Given the description of an element on the screen output the (x, y) to click on. 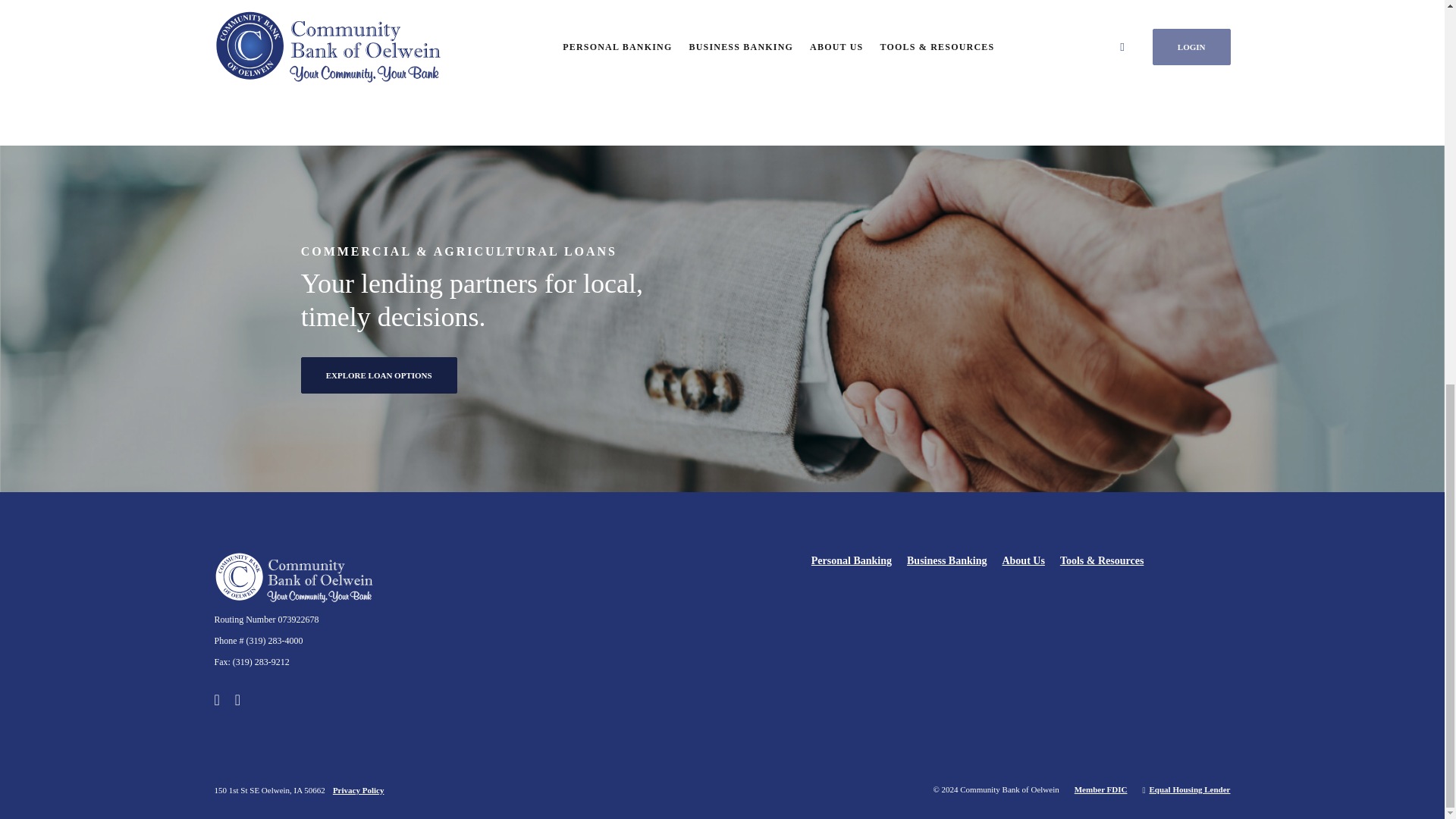
EXPLORE LOAN OPTIONS (379, 375)
Community Bank of Oelwein, Oelwein, IA (293, 578)
